Given the description of an element on the screen output the (x, y) to click on. 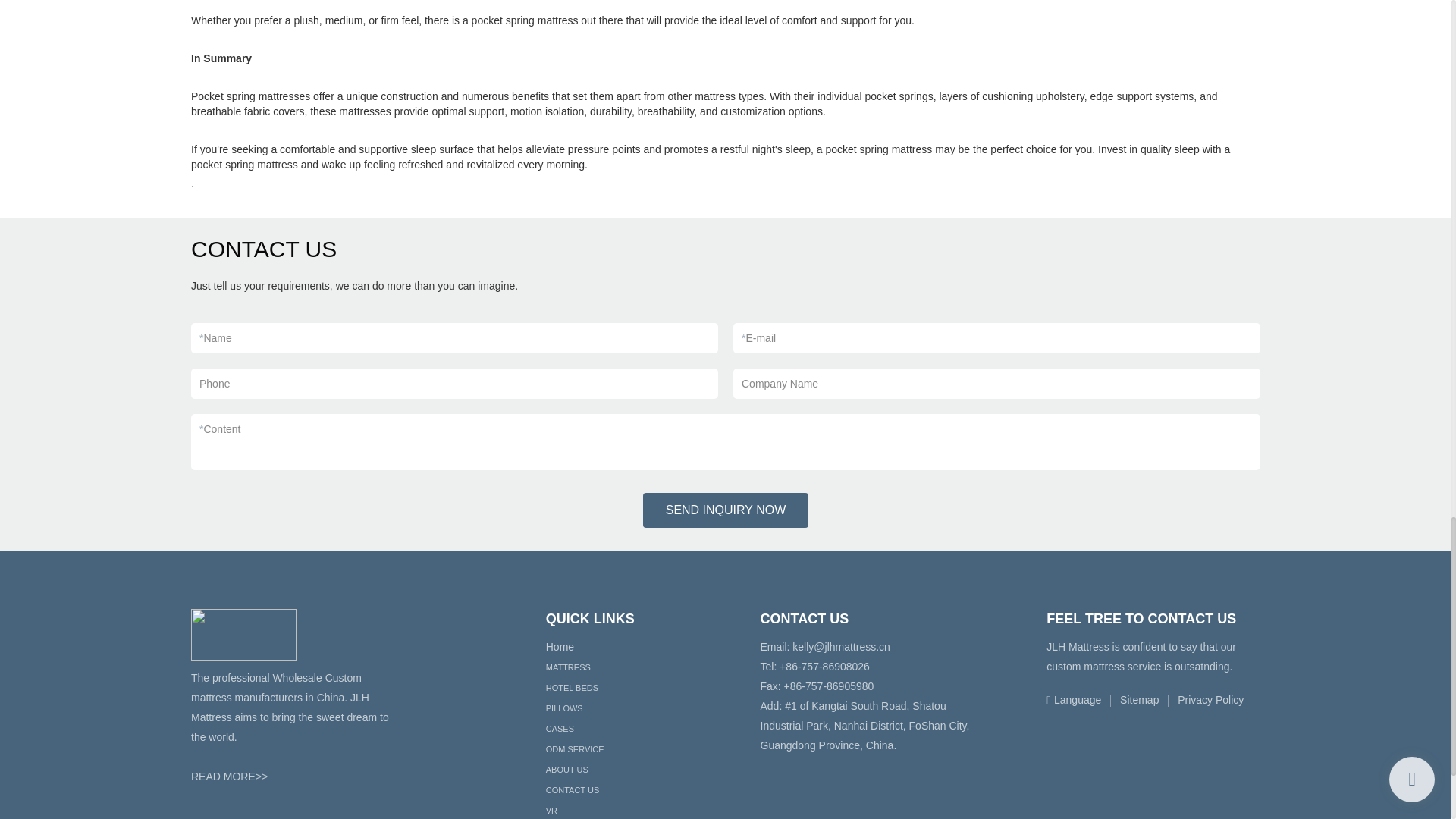
SEND INQUIRY NOW (726, 510)
Home (559, 646)
